Given the description of an element on the screen output the (x, y) to click on. 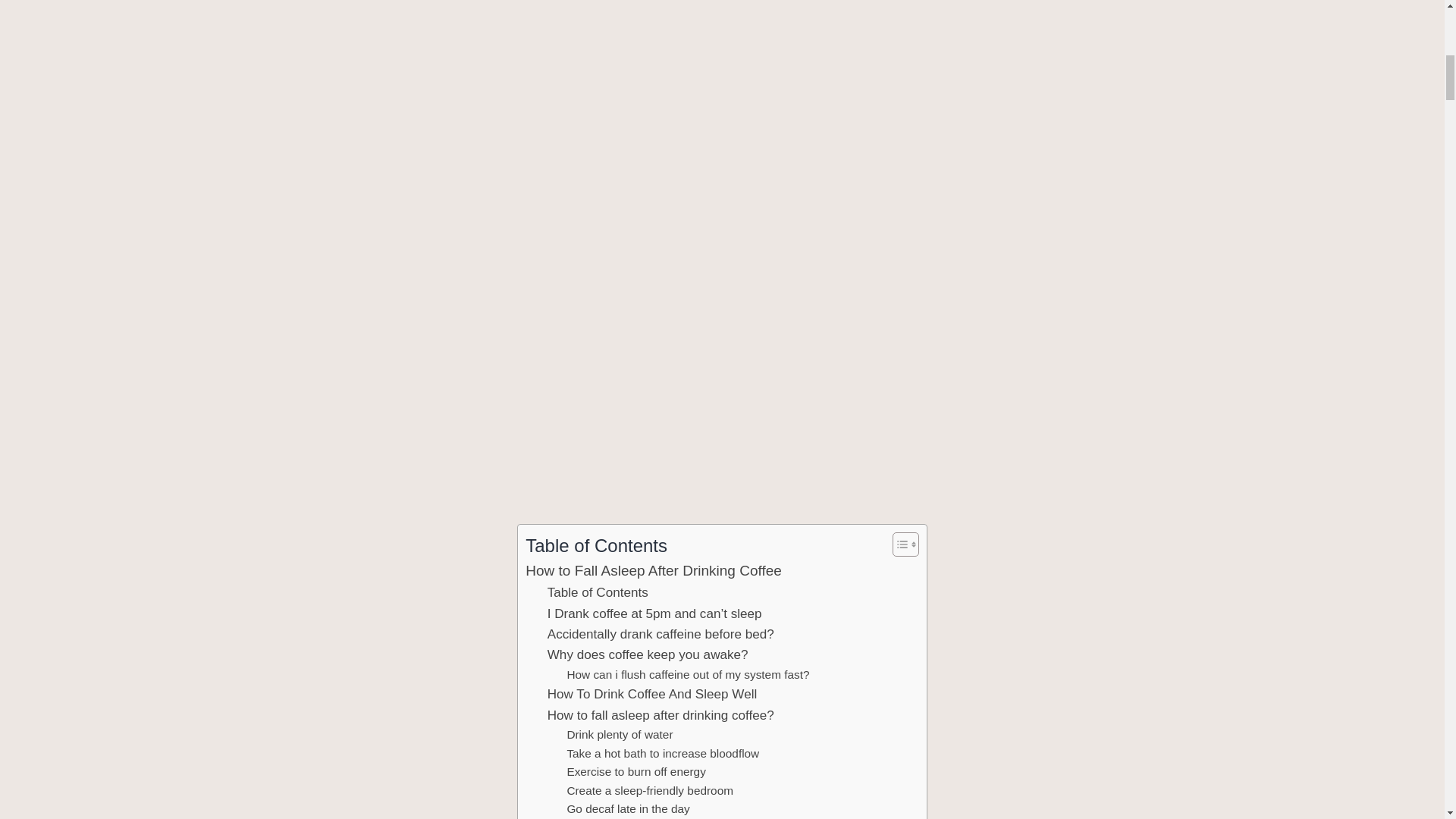
Take a hot bath to increase bloodflow (662, 753)
How to Fall Asleep After Drinking Coffee (653, 570)
How To Drink Coffee And Sleep Well (652, 693)
How can i flush caffeine out of my system fast? (687, 674)
Accidentally drank caffeine before bed? (660, 634)
Create a sleep-friendly bedroom (649, 791)
Why does coffee keep you awake? (647, 654)
Go decaf late in the day (627, 809)
Exercise to burn off energy (635, 772)
Drink plenty of water (619, 734)
Table of Contents (597, 592)
How to fall asleep after drinking coffee? (660, 715)
